Given the description of an element on the screen output the (x, y) to click on. 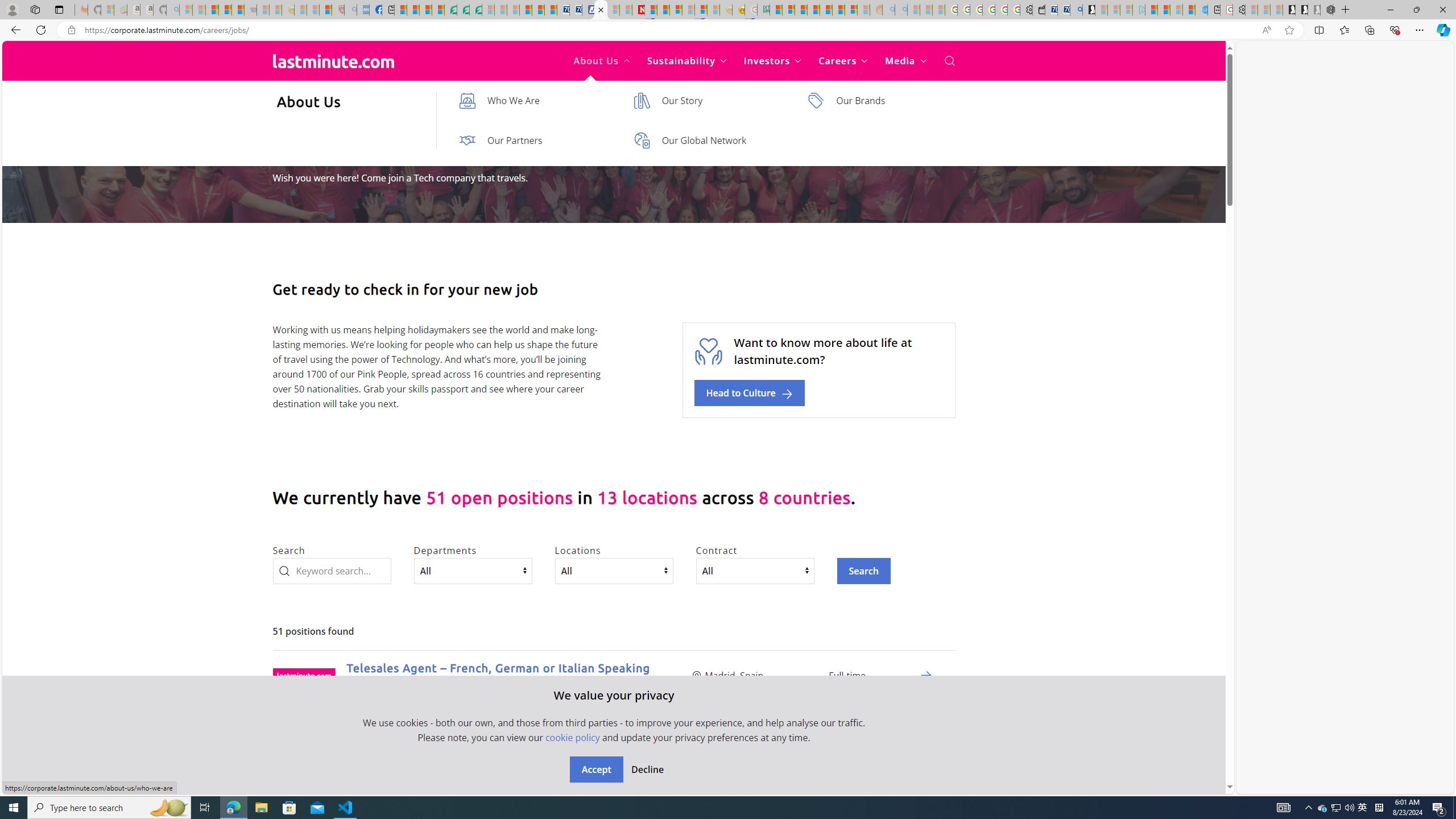
Combat Siege (250, 9)
Bing Real Estate - Home sales and rental listings (1076, 9)
Our Brands (883, 99)
14 Common Myths Debunked By Scientific Facts (663, 9)
Careers (842, 60)
Robert H. Shmerling, MD - Harvard Health - Sleeping (338, 9)
Play Free Online Games | Games from Microsoft Start (1289, 9)
